Given the description of an element on the screen output the (x, y) to click on. 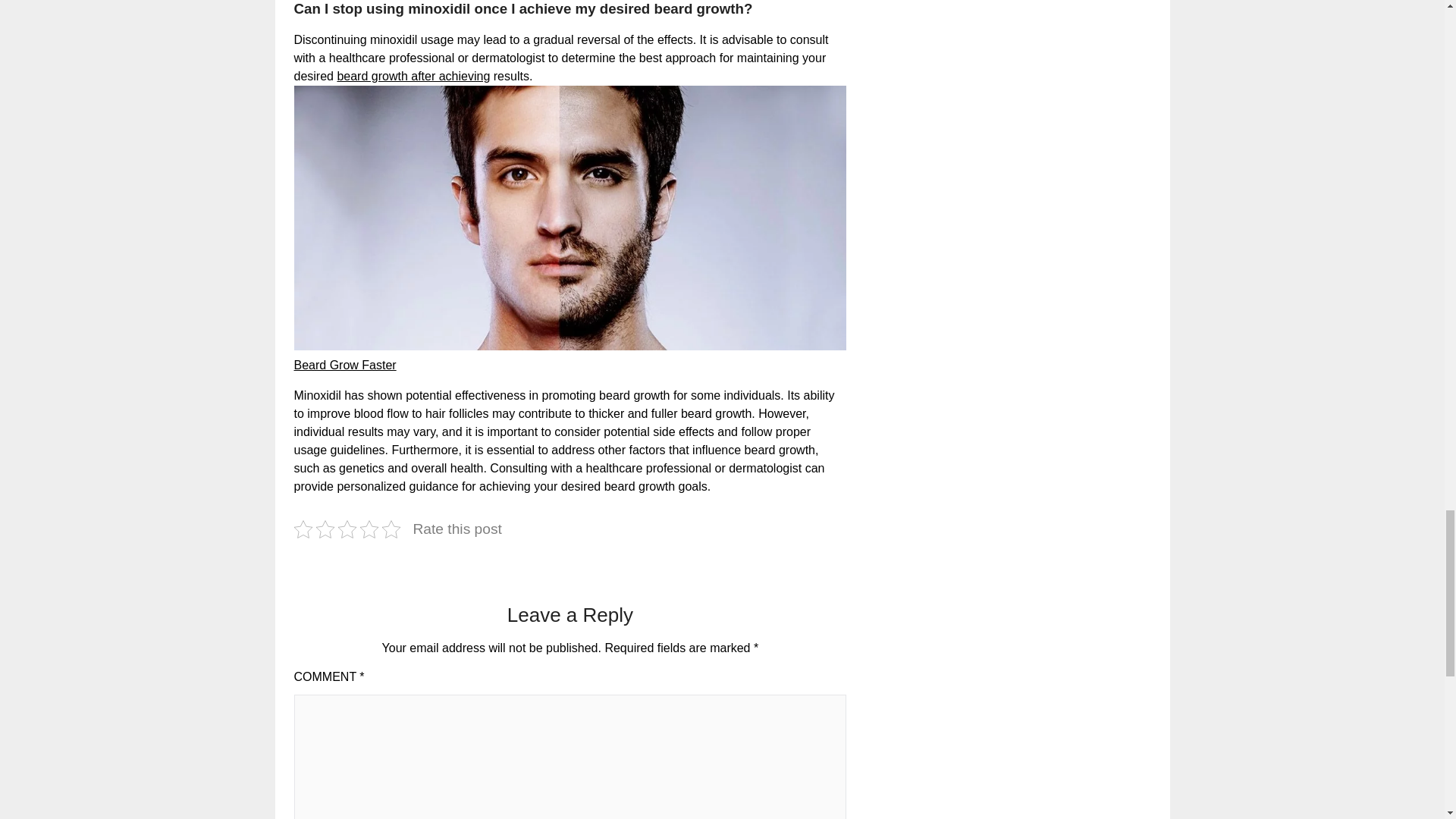
beard growth after achieving (412, 75)
Beard Grow Faster (345, 364)
